Given the description of an element on the screen output the (x, y) to click on. 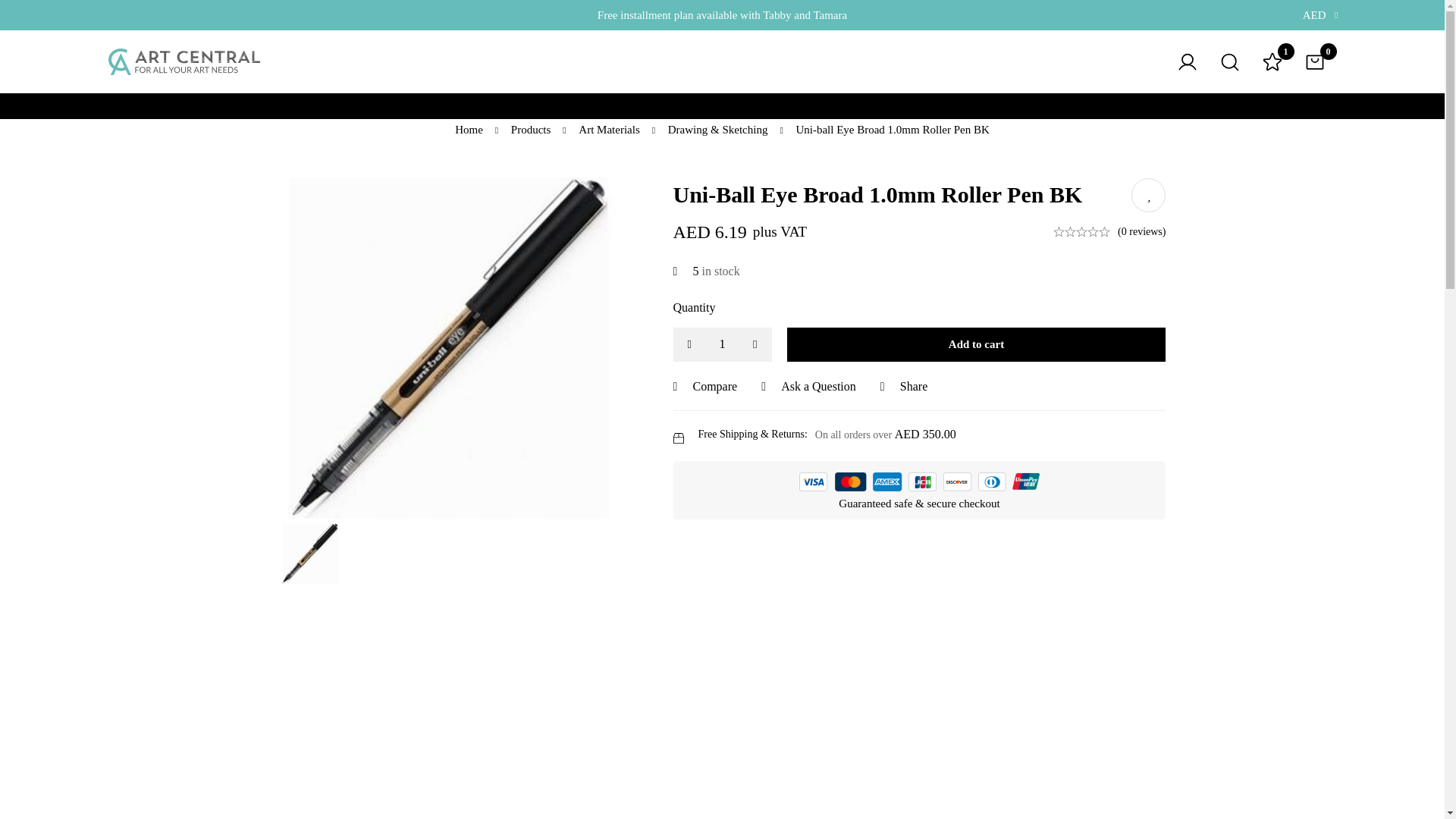
1 (1272, 61)
0 (1315, 61)
AED (1317, 14)
1 (721, 344)
